Given the description of an element on the screen output the (x, y) to click on. 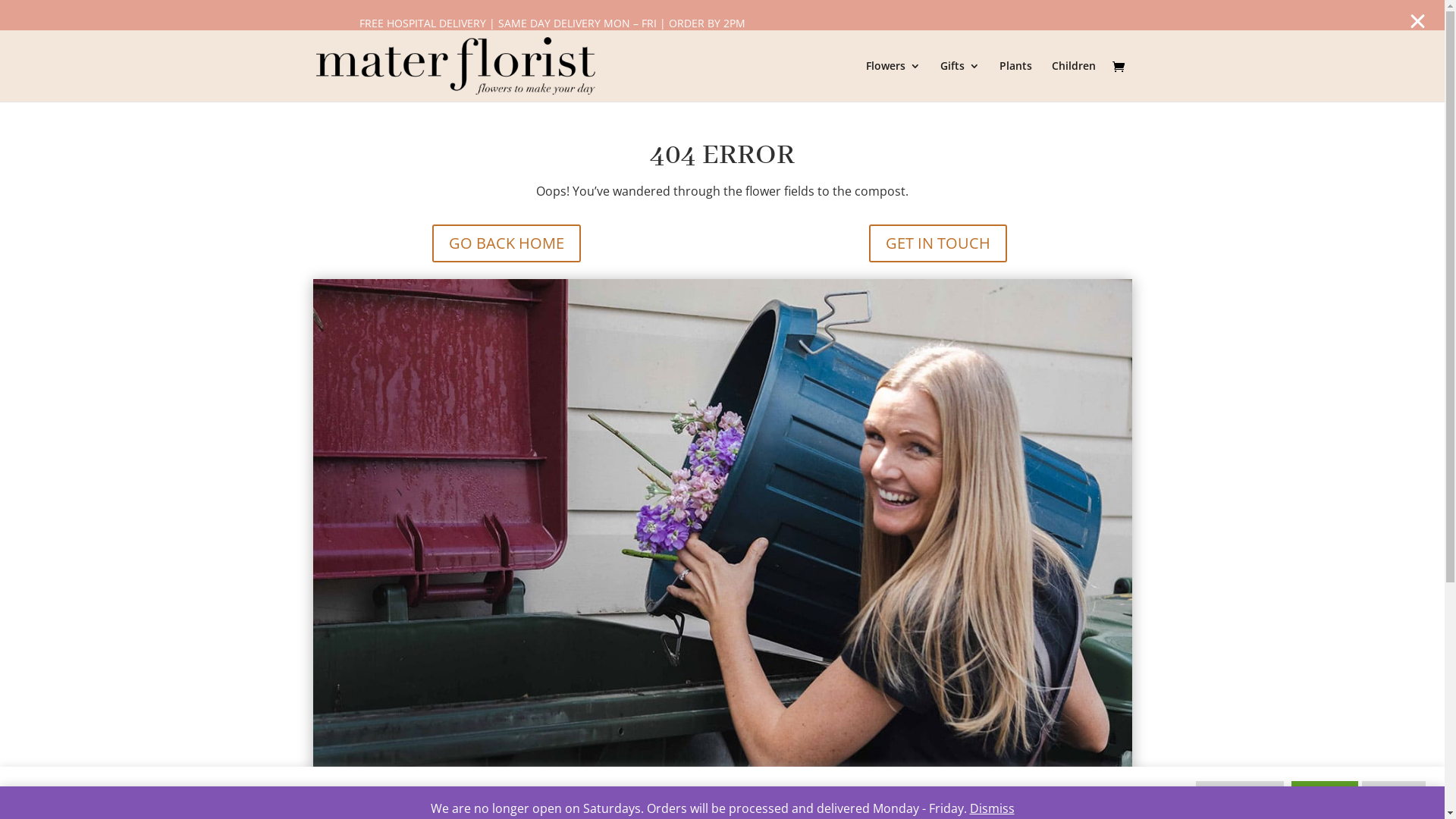
Okie Dokie Element type: text (1324, 792)
Decline All Element type: text (1393, 792)
Privacy Policy Element type: text (514, 792)
GET IN TOUCH Element type: text (938, 243)
Cookie Settings Element type: text (1239, 792)
GO BACK HOME Element type: text (506, 243)
Children Element type: text (1073, 80)
Dismiss Element type: text (991, 808)
Gifts Element type: text (959, 80)
Plants Element type: text (1015, 80)
Flowers Element type: text (893, 80)
